Given the description of an element on the screen output the (x, y) to click on. 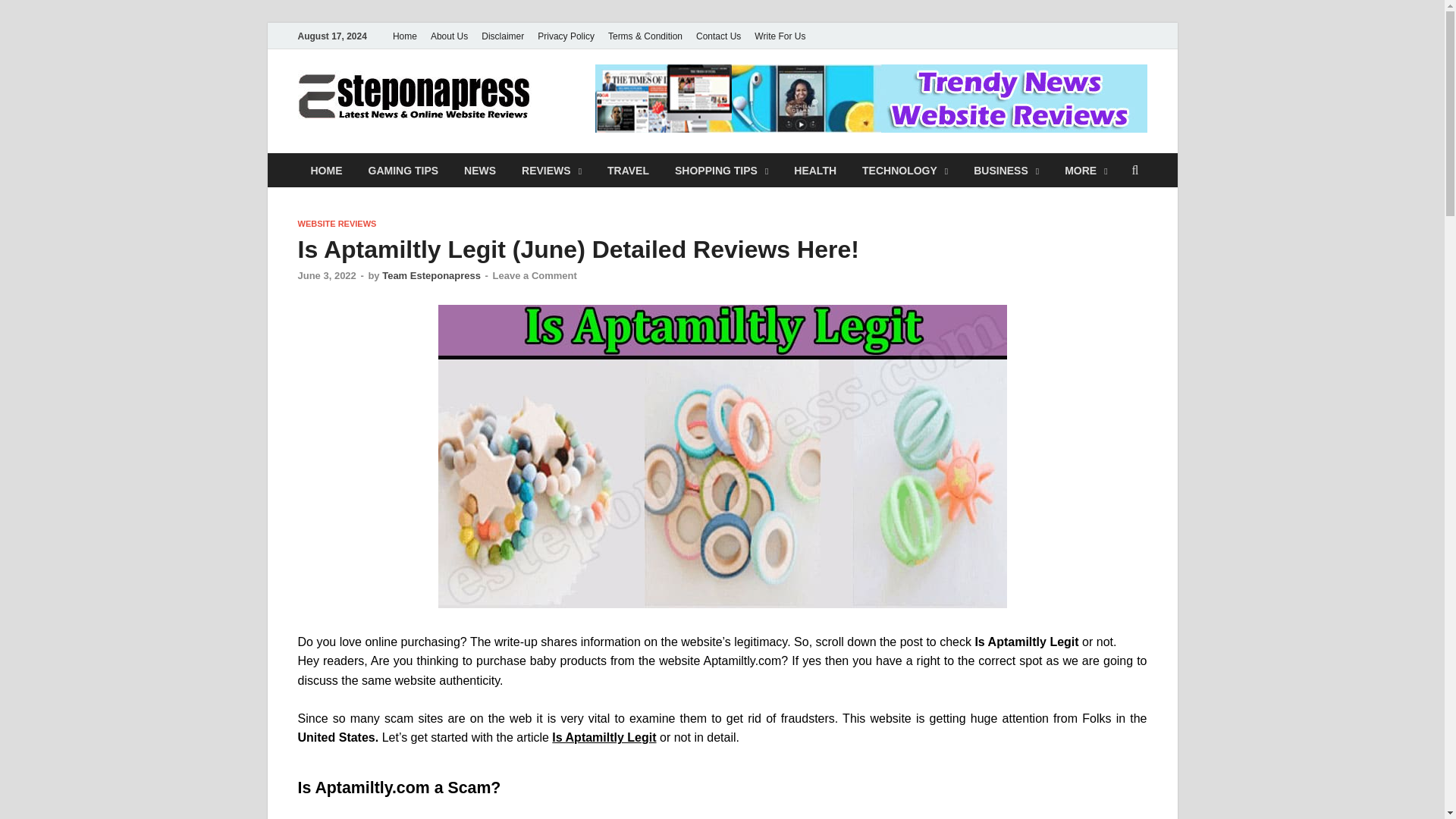
NEWS (479, 170)
REVIEWS (551, 170)
HOME (326, 170)
TRAVEL (628, 170)
TECHNOLOGY (904, 170)
MORE (1085, 170)
BUSINESS (1005, 170)
Contact Us (718, 35)
Home (404, 35)
HEALTH (814, 170)
